Given the description of an element on the screen output the (x, y) to click on. 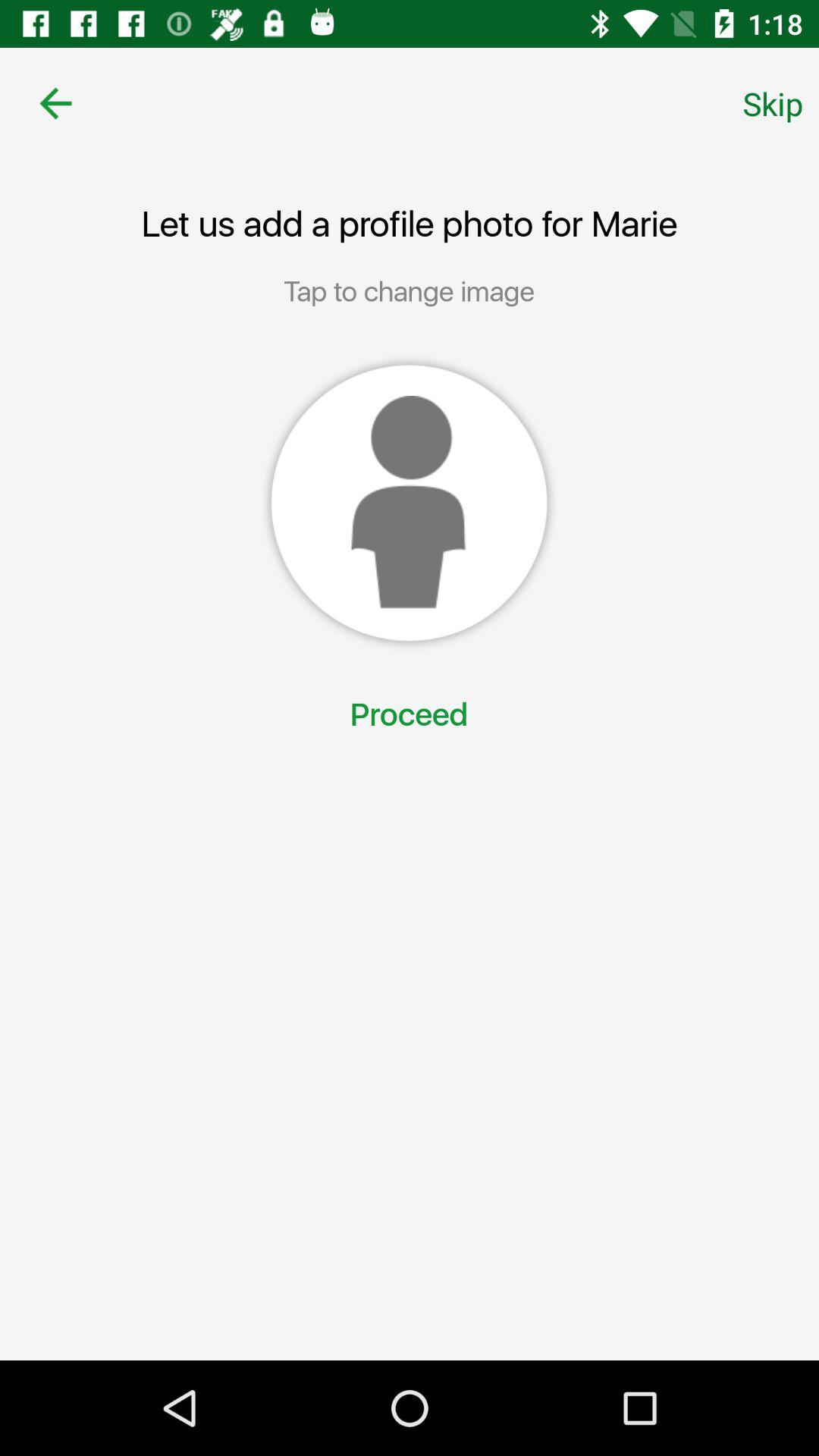
flip until the proceed (408, 715)
